Given the description of an element on the screen output the (x, y) to click on. 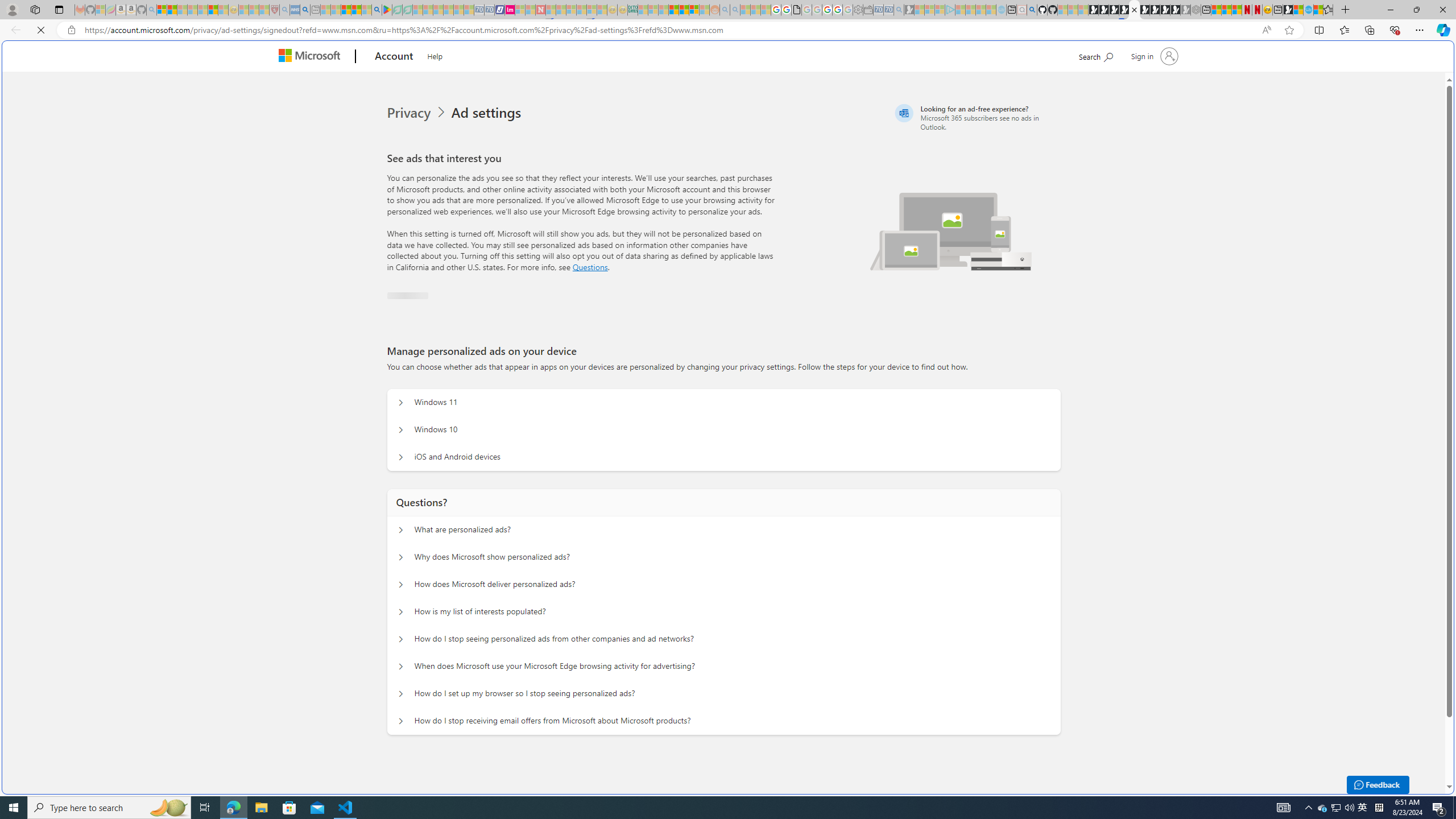
Settings - Sleeping (857, 9)
Home | Sky Blue Bikes - Sky Blue Bikes - Sleeping (1001, 9)
